Given the description of an element on the screen output the (x, y) to click on. 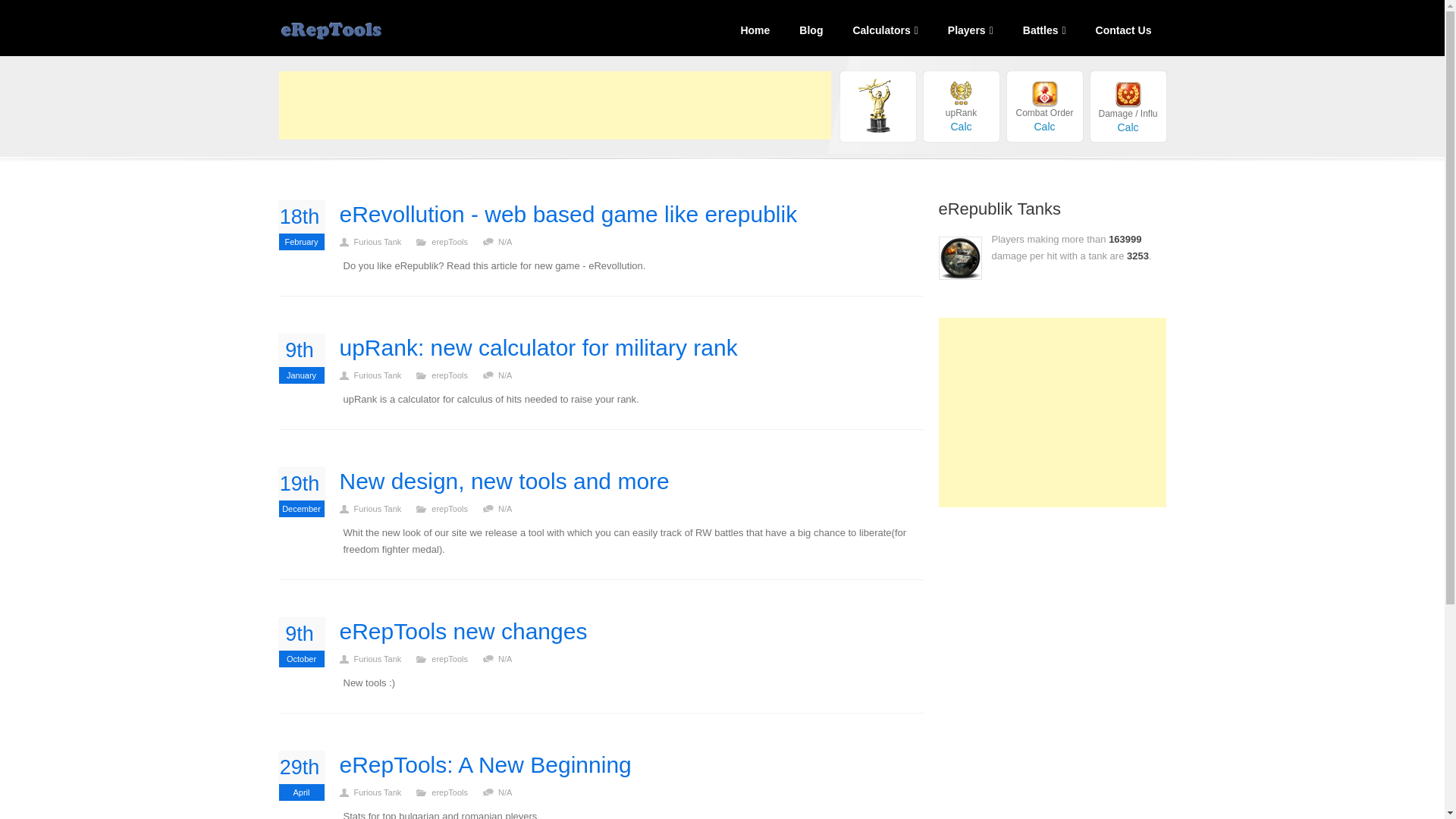
Calculators (884, 30)
Home (754, 30)
erepTools (455, 375)
eRevollution - web based game like erepublik (568, 214)
Players (970, 30)
New design, new tools and more (504, 481)
erepTools (455, 241)
Advertisement (555, 105)
eRepTools (376, 28)
Furious Tank (383, 375)
upRank: new calculator for military rank (301, 225)
Advertisement (538, 347)
Contact Us (301, 491)
